Given the description of an element on the screen output the (x, y) to click on. 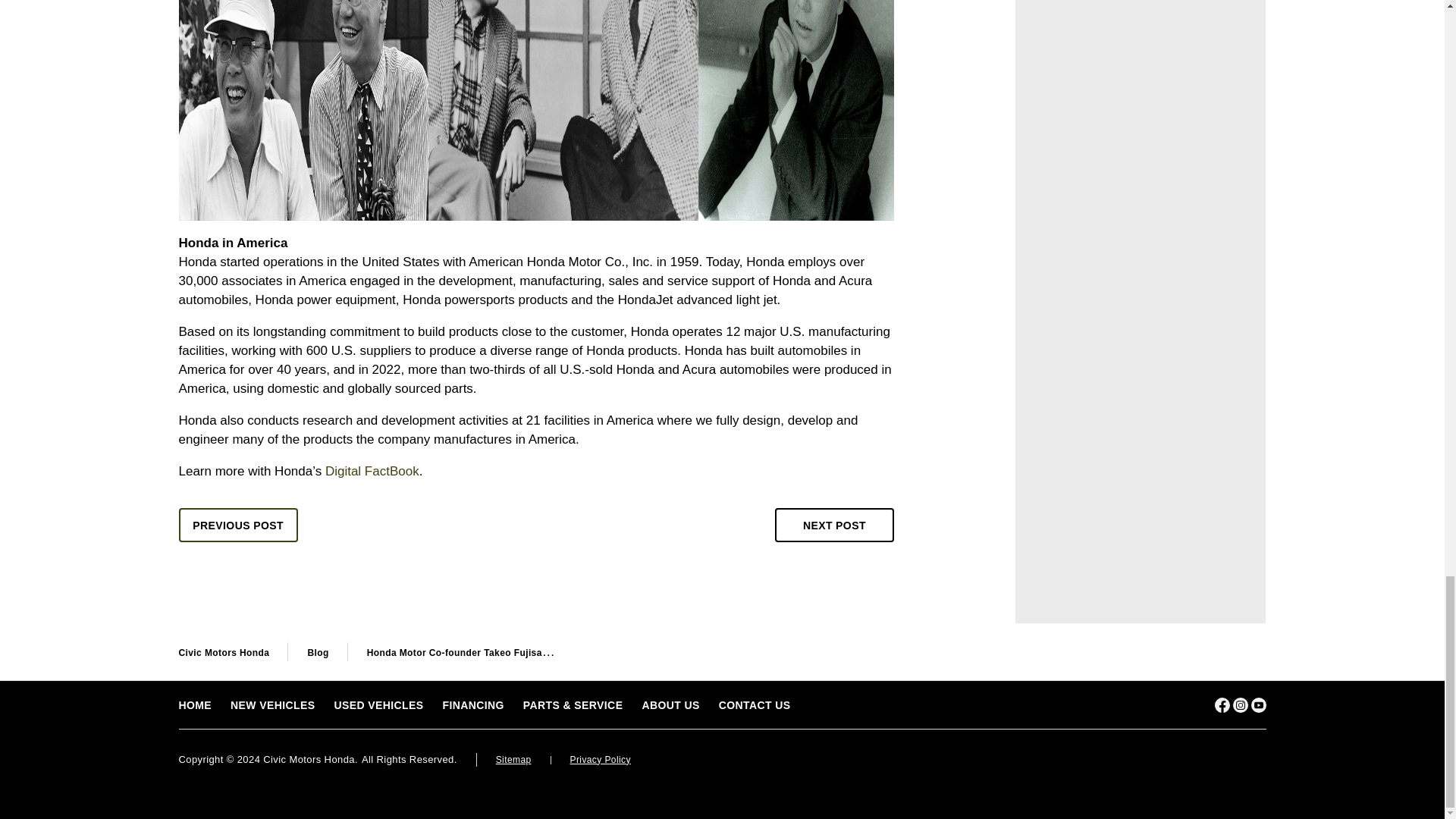
Go to the Blog category archives. (318, 652)
Go to Civic Motors Honda. (224, 652)
Powered by EDealer (1235, 760)
